Given the description of an element on the screen output the (x, y) to click on. 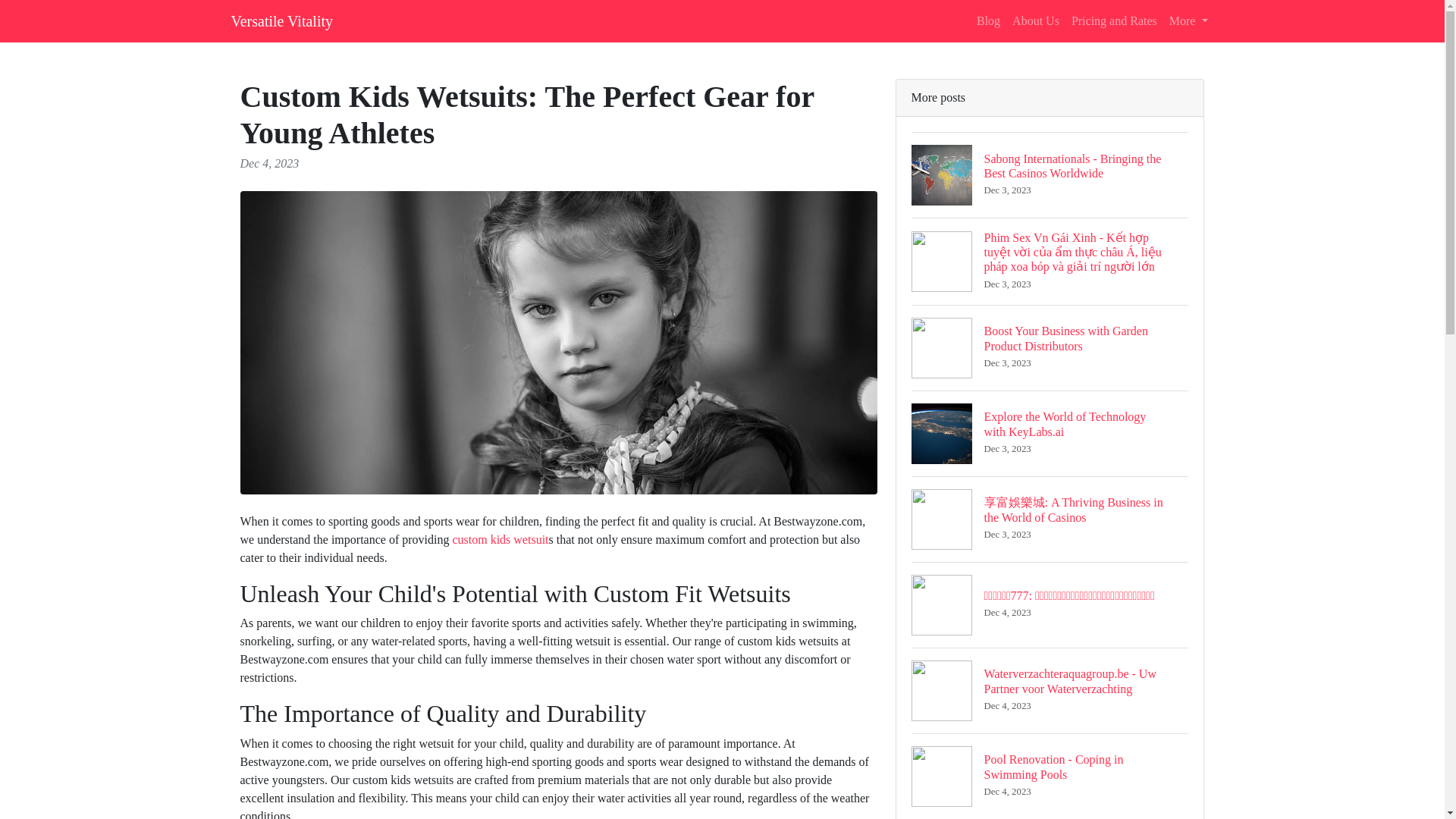
More (1050, 432)
custom kids wetsuit (1188, 20)
Pricing and Rates (499, 539)
Versatile Vitality (1114, 20)
Blog (281, 20)
About Us (988, 20)
